Given the description of an element on the screen output the (x, y) to click on. 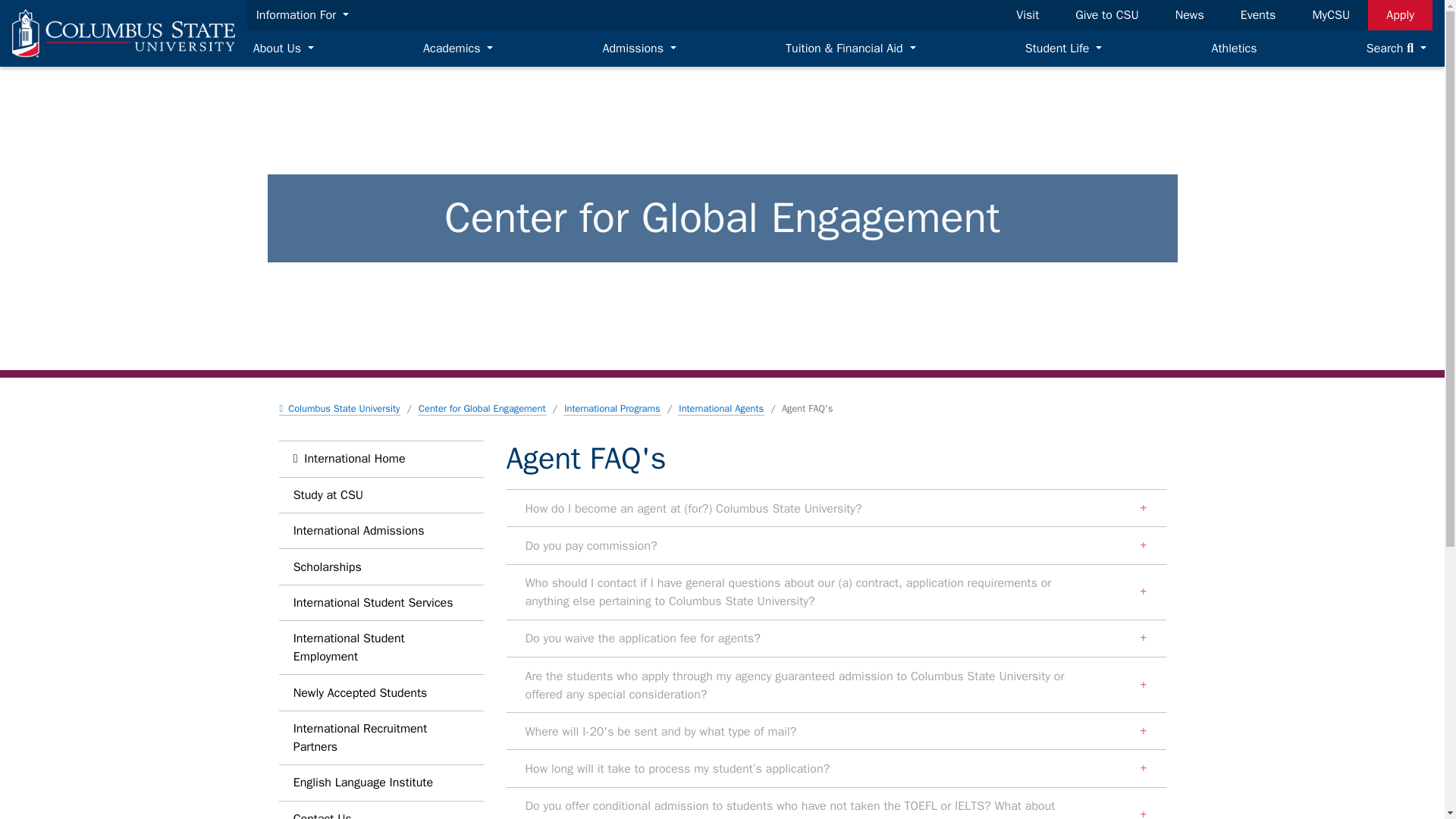
Columbus State University (122, 32)
Give to CSU (1106, 15)
MyCSU (1330, 15)
Information For (302, 15)
Apply (1400, 15)
Visit (1027, 15)
Events (1258, 15)
News (1189, 15)
